Given the description of an element on the screen output the (x, y) to click on. 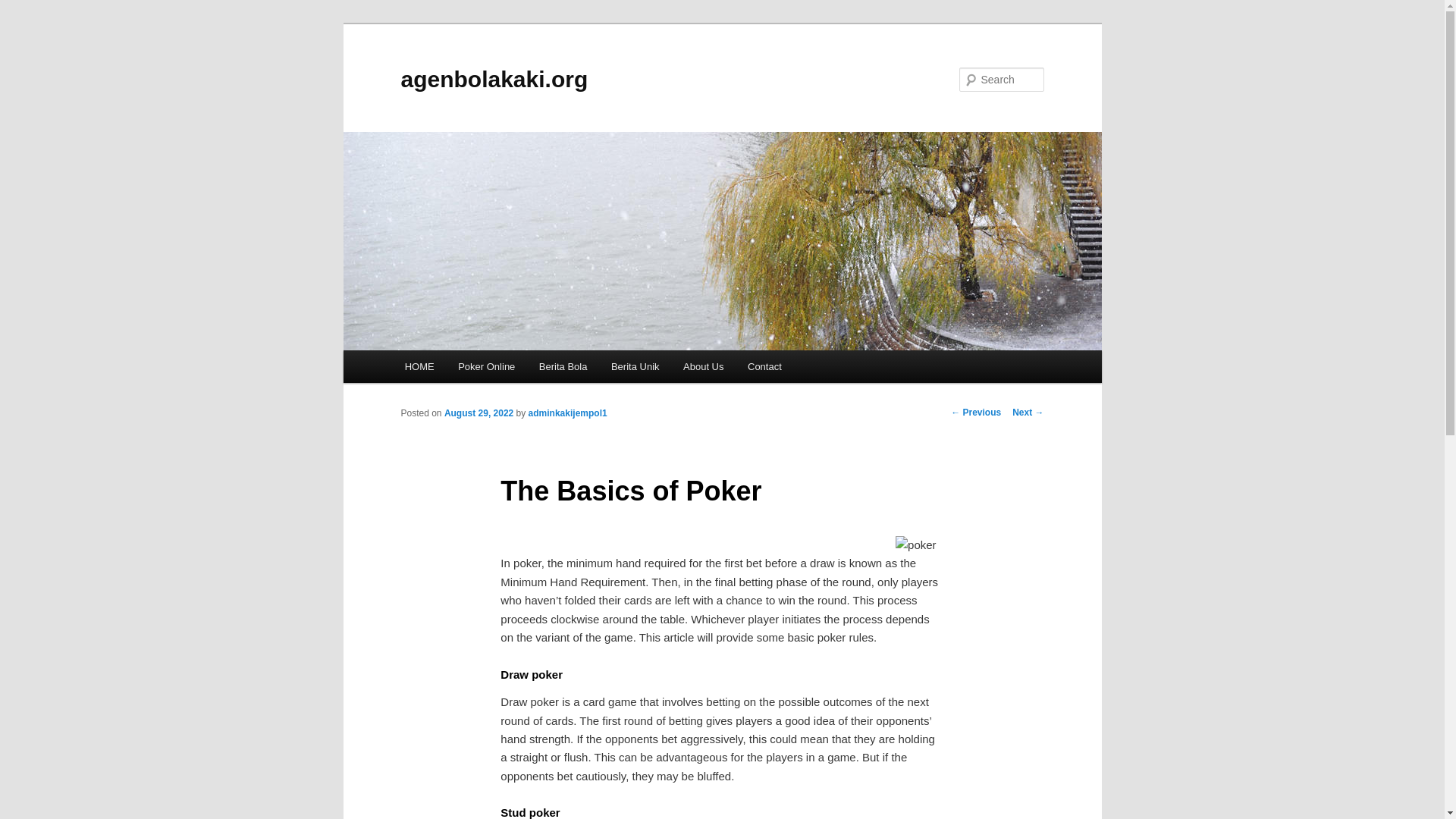
Berita Unik (634, 366)
agenbolakaki.org (494, 78)
HOME (419, 366)
August 29, 2022 (478, 412)
1:33 pm (478, 412)
View all posts by adminkakijempol1 (567, 412)
adminkakijempol1 (567, 412)
Search (24, 8)
About Us (703, 366)
